Given the description of an element on the screen output the (x, y) to click on. 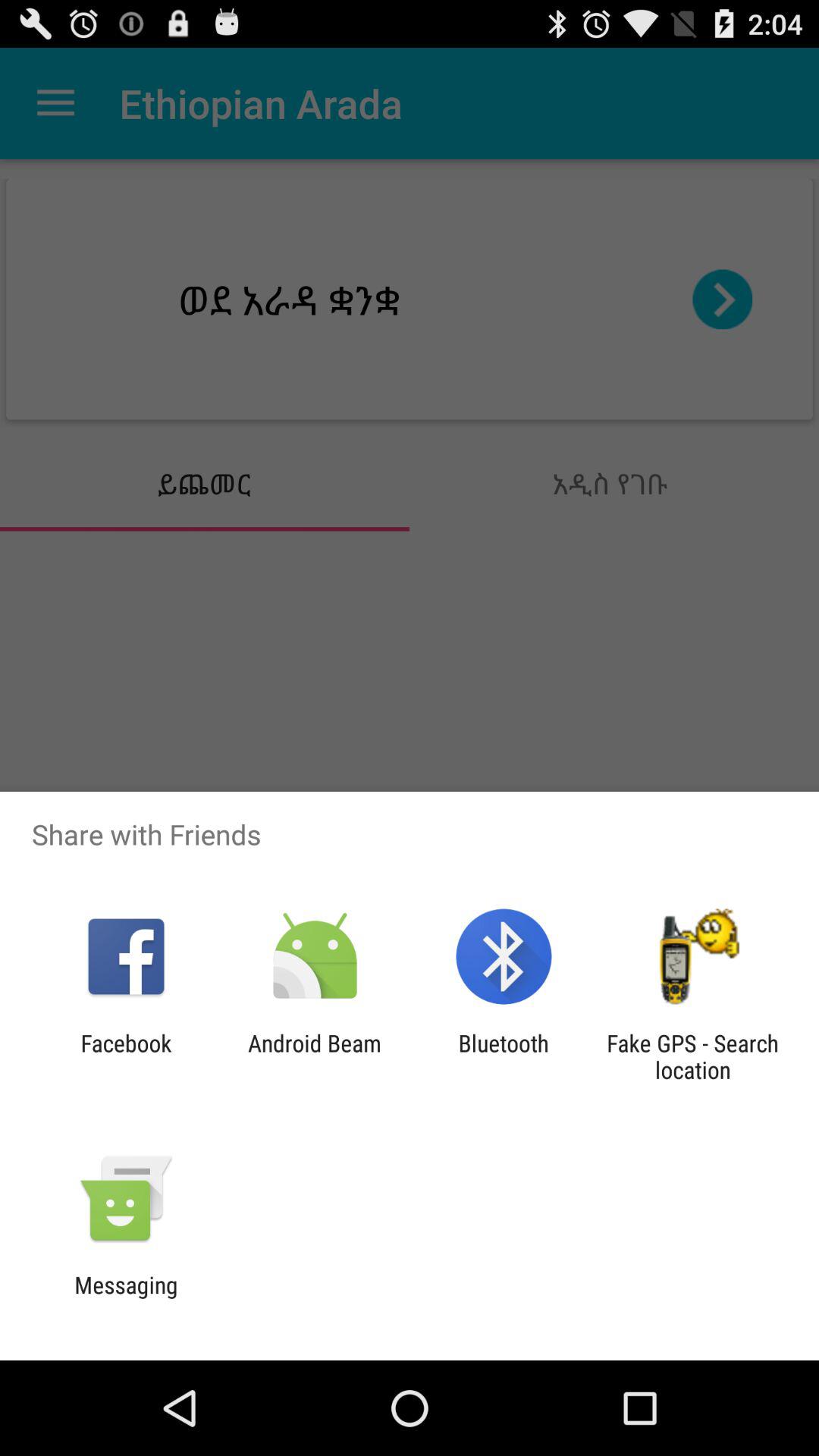
select the app next to android beam app (503, 1056)
